Given the description of an element on the screen output the (x, y) to click on. 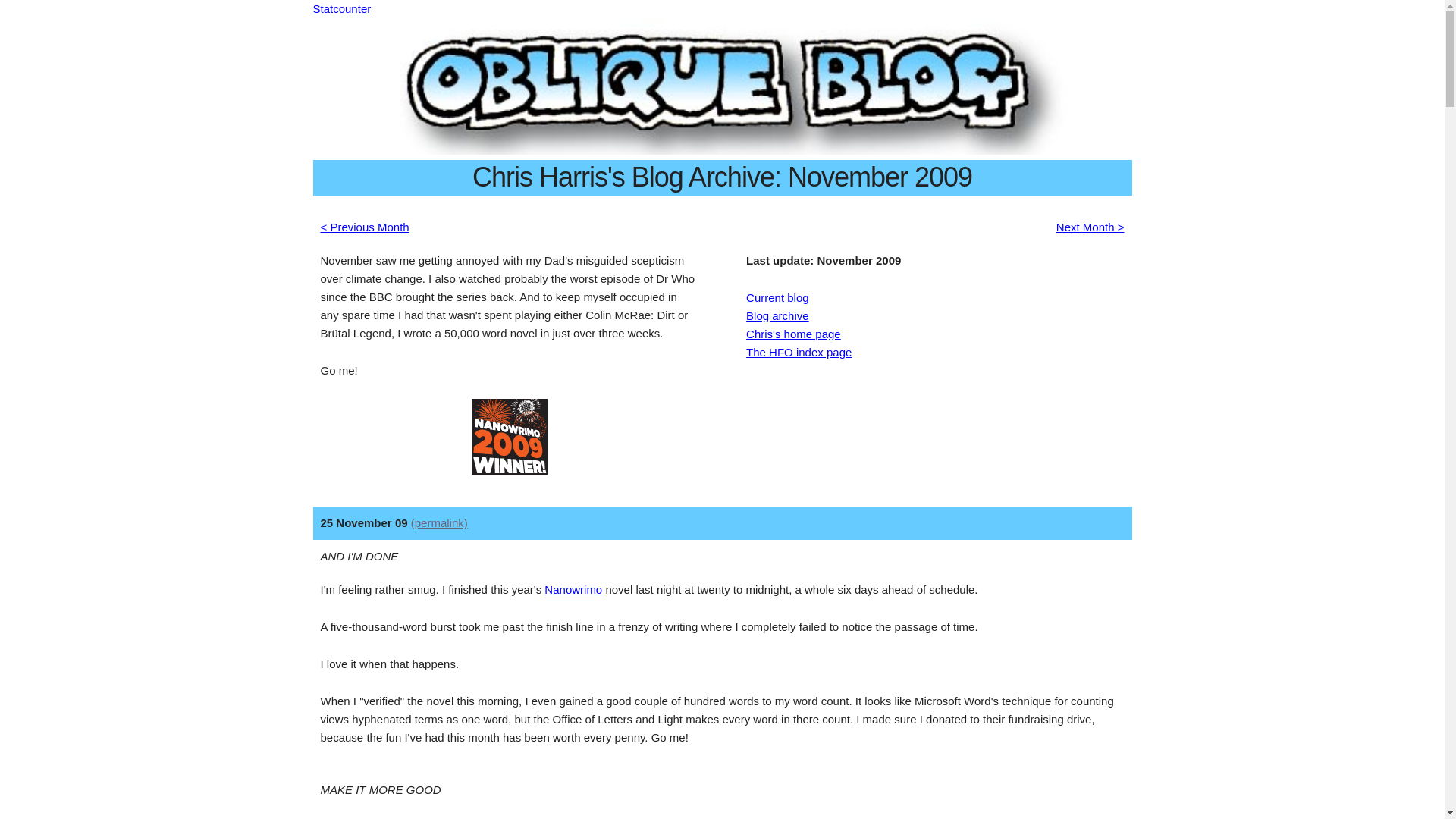
Blog archive (777, 315)
Statcounter (342, 8)
Nanowrimo (574, 589)
Clients from hell (1030, 817)
Chris's home page (793, 333)
The HFO index page (798, 351)
Current blog (777, 297)
Colin (445, 817)
